Given the description of an element on the screen output the (x, y) to click on. 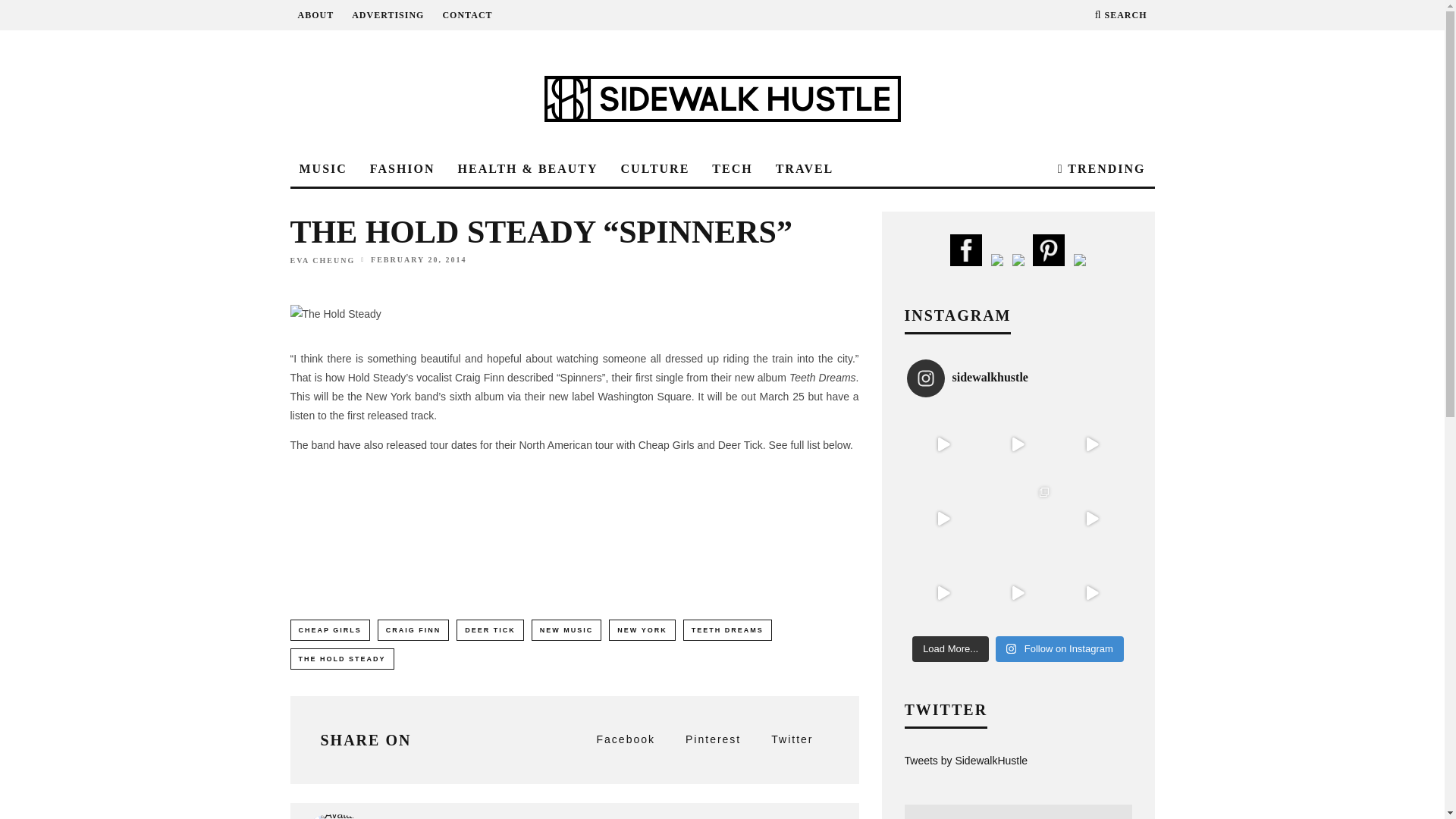
ADVERTISING (387, 15)
MUSIC (322, 169)
CONTACT (467, 15)
FASHION (402, 169)
ABOUT (315, 15)
Search (1120, 15)
Log In (722, 408)
SEARCH (1120, 15)
